Given the description of an element on the screen output the (x, y) to click on. 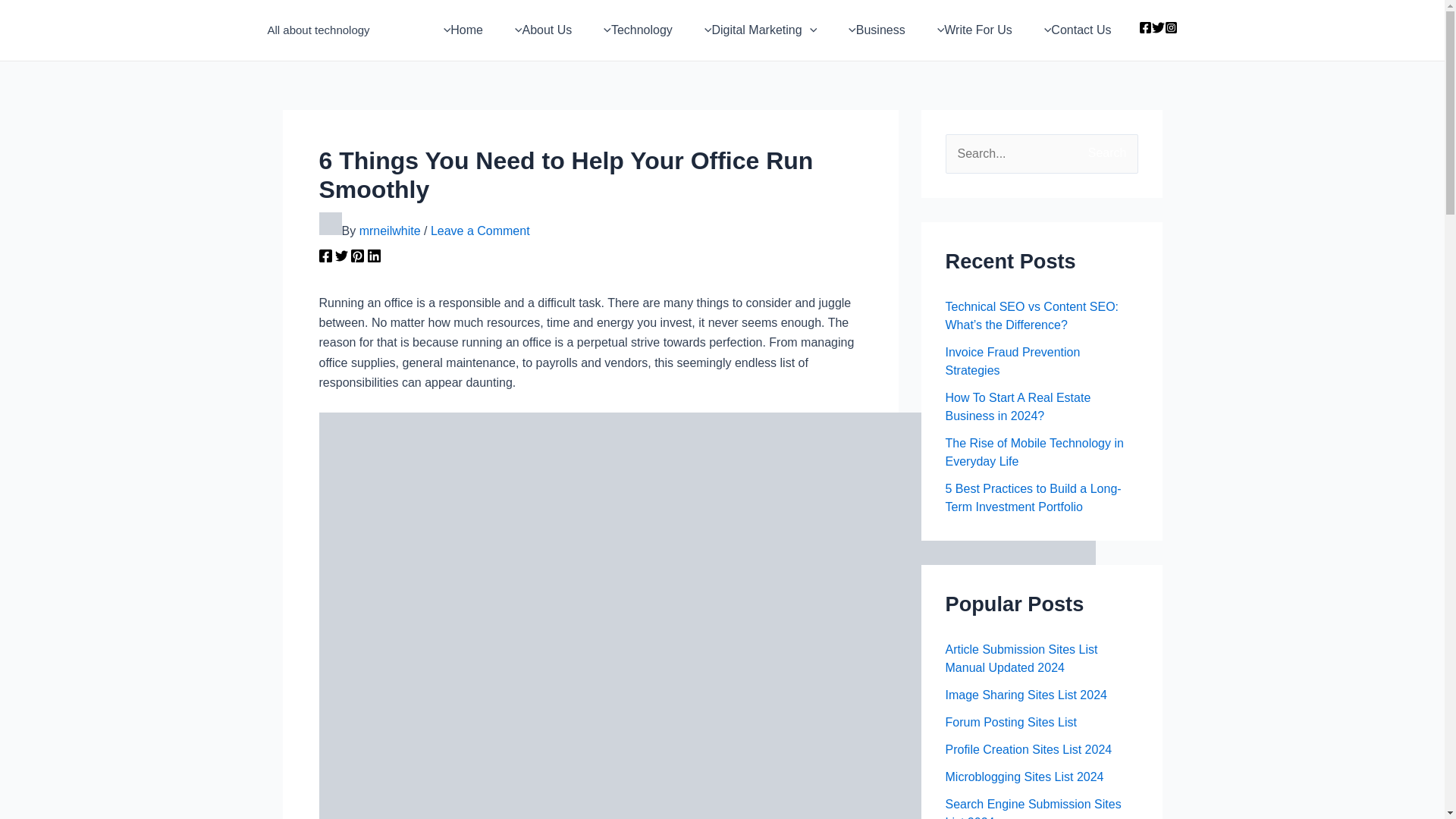
mrneilwhite (391, 230)
About Us (539, 30)
Digital Marketing (756, 30)
Contact Us (1074, 30)
View all posts by mrneilwhite (391, 230)
Leave a Comment (479, 230)
Business (872, 30)
Search (1120, 150)
Technology (633, 30)
Write For Us (971, 30)
